Given the description of an element on the screen output the (x, y) to click on. 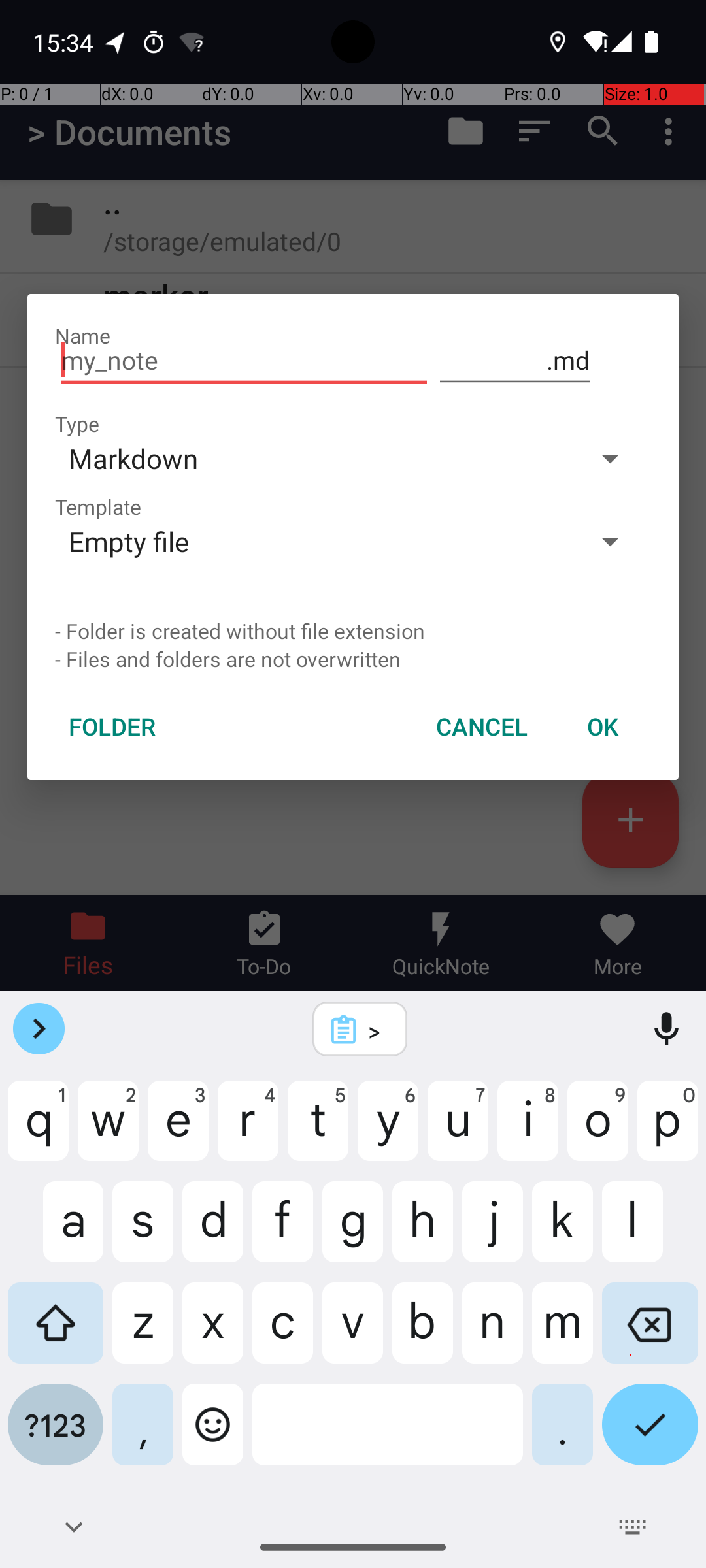
>  Element type: android.widget.TextView (377, 1029)
